Given the description of an element on the screen output the (x, y) to click on. 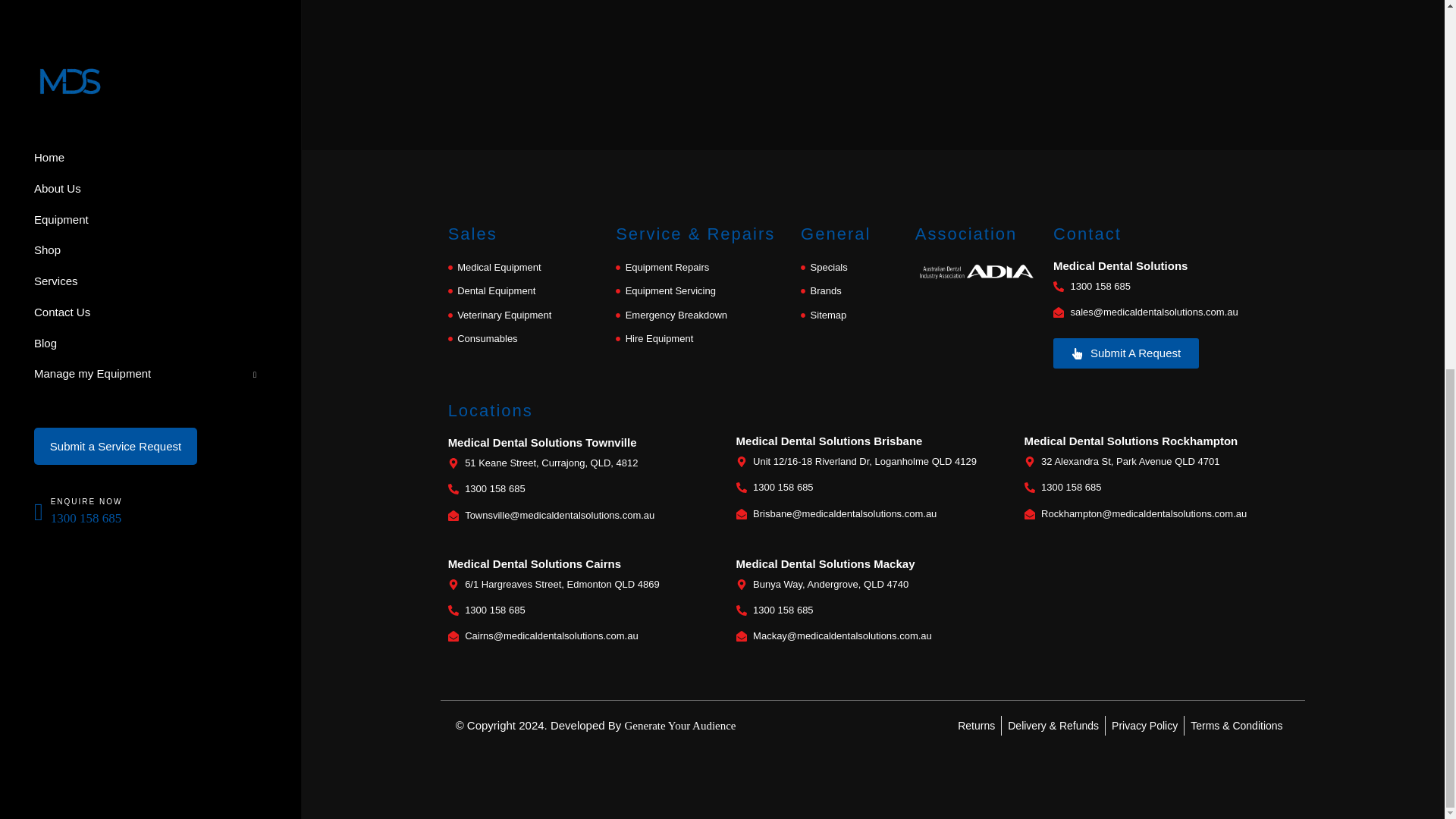
Generate Your Audience (679, 725)
32 Alexandra St, Park Avenue QLD 4701 (1161, 461)
1300 158 685 (1161, 487)
Submit A Request (1125, 353)
1300 158 685 (872, 487)
1300 158 685 (872, 609)
Specials (849, 267)
1300 158 685 (1174, 286)
Consumables (524, 338)
Veterinary Equipment (524, 314)
Medical Equipment (524, 267)
1300 158 685 (584, 488)
1300 158 685 (584, 609)
Dental Equipment (524, 291)
51 Keane Street, Currajong, QLD, 4812 (584, 463)
